Given the description of an element on the screen output the (x, y) to click on. 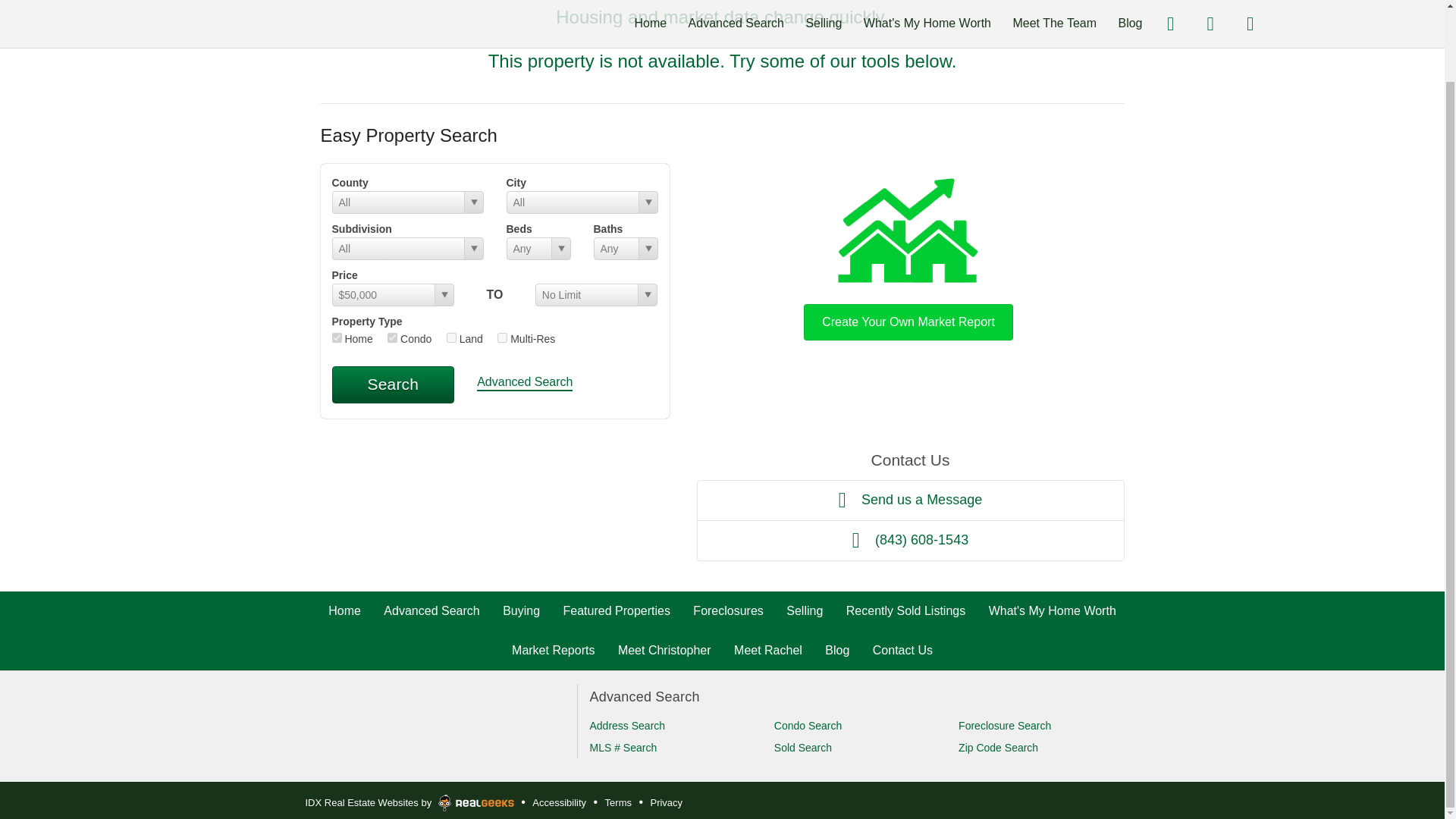
Foreclosures (727, 610)
lnd (451, 337)
Advanced Search (431, 610)
Advanced Search (524, 383)
Search (392, 384)
Selling (804, 610)
Address Search (627, 725)
Contact Us (902, 649)
Foreclosure Search (1004, 725)
Buying (521, 610)
